Given the description of an element on the screen output the (x, y) to click on. 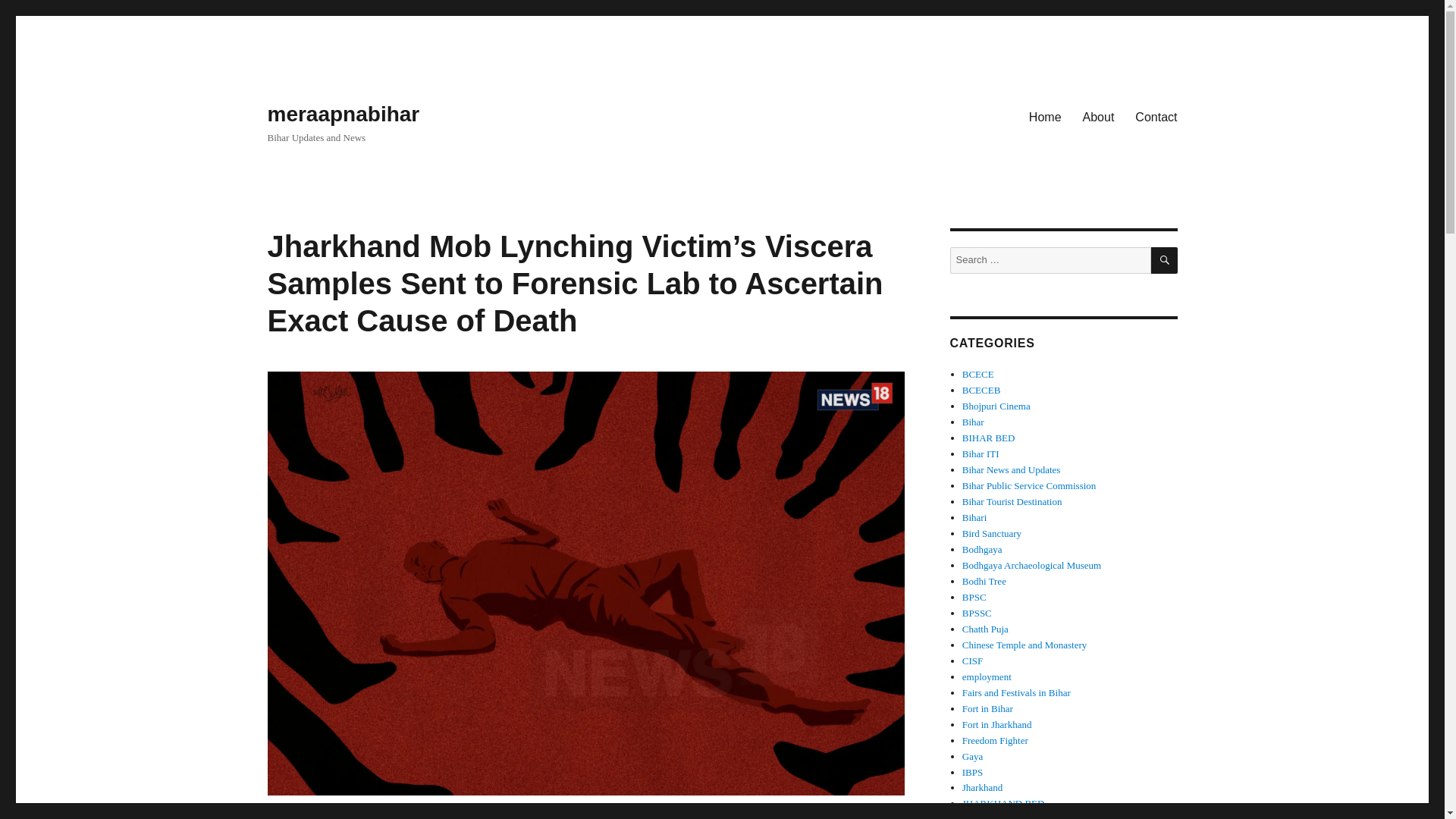
Chatth Puja (985, 628)
meraapnabihar (342, 114)
BPSSC (976, 613)
Home (1044, 116)
Bodhgaya (982, 549)
Chinese Temple and Monastery (1024, 644)
employment (986, 676)
BCECE (978, 374)
BIHAR BED (988, 437)
Bodhi Tree (984, 581)
